Given the description of an element on the screen output the (x, y) to click on. 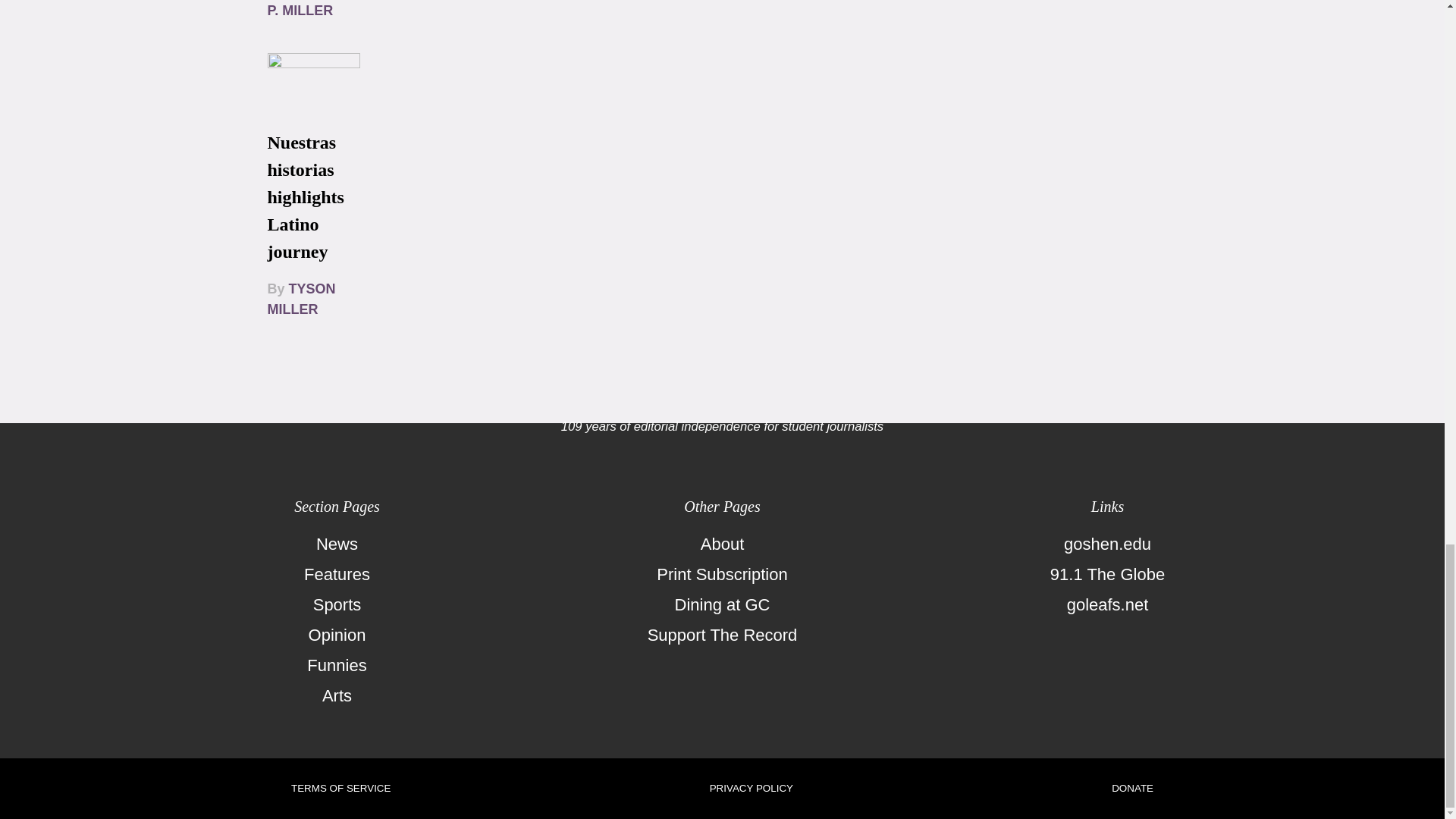
Arts (336, 695)
Features (336, 574)
Funnies (336, 665)
Opinion (336, 634)
TYSON MILLER (300, 298)
Sports (336, 604)
Dining at GC (722, 604)
News (336, 544)
MACKENZIE P. MILLER (306, 9)
About (722, 544)
